Given the description of an element on the screen output the (x, y) to click on. 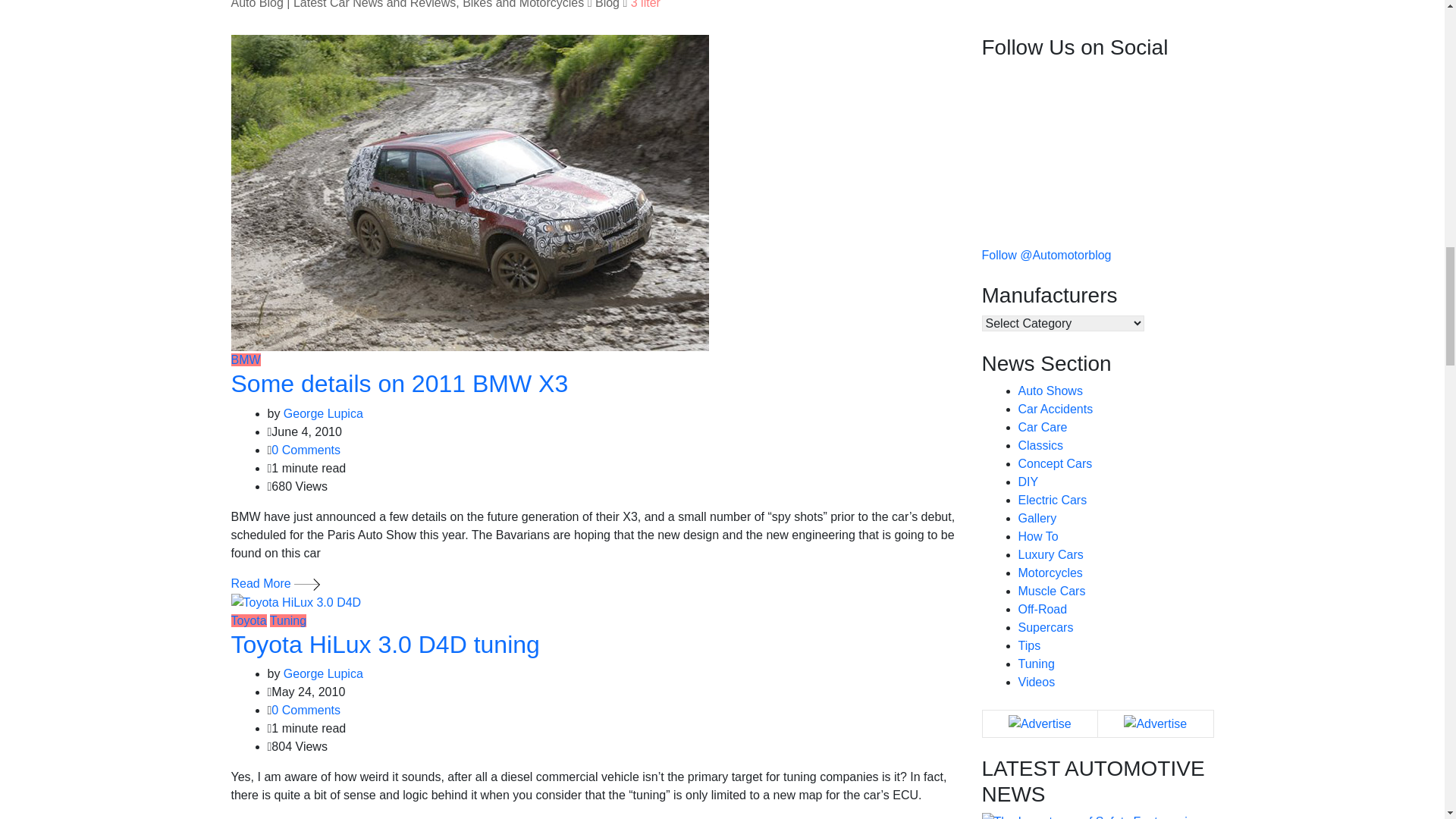
Advertise (1155, 722)
Advertise (1040, 722)
Posts by George Lupica (322, 673)
Posts by George Lupica (322, 413)
Go to Blog. (607, 4)
